Given the description of an element on the screen output the (x, y) to click on. 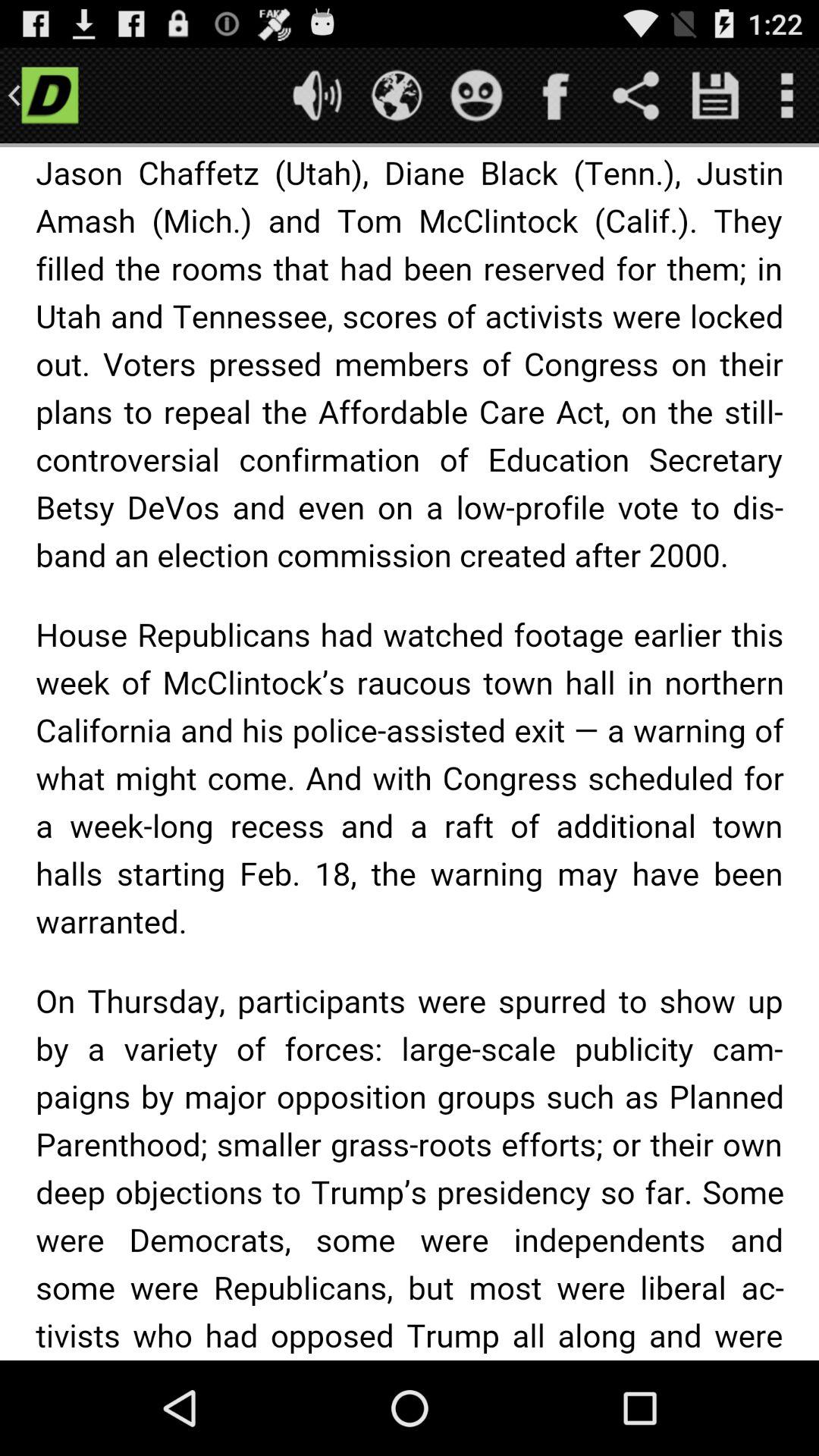
change volume settings (317, 95)
